Given the description of an element on the screen output the (x, y) to click on. 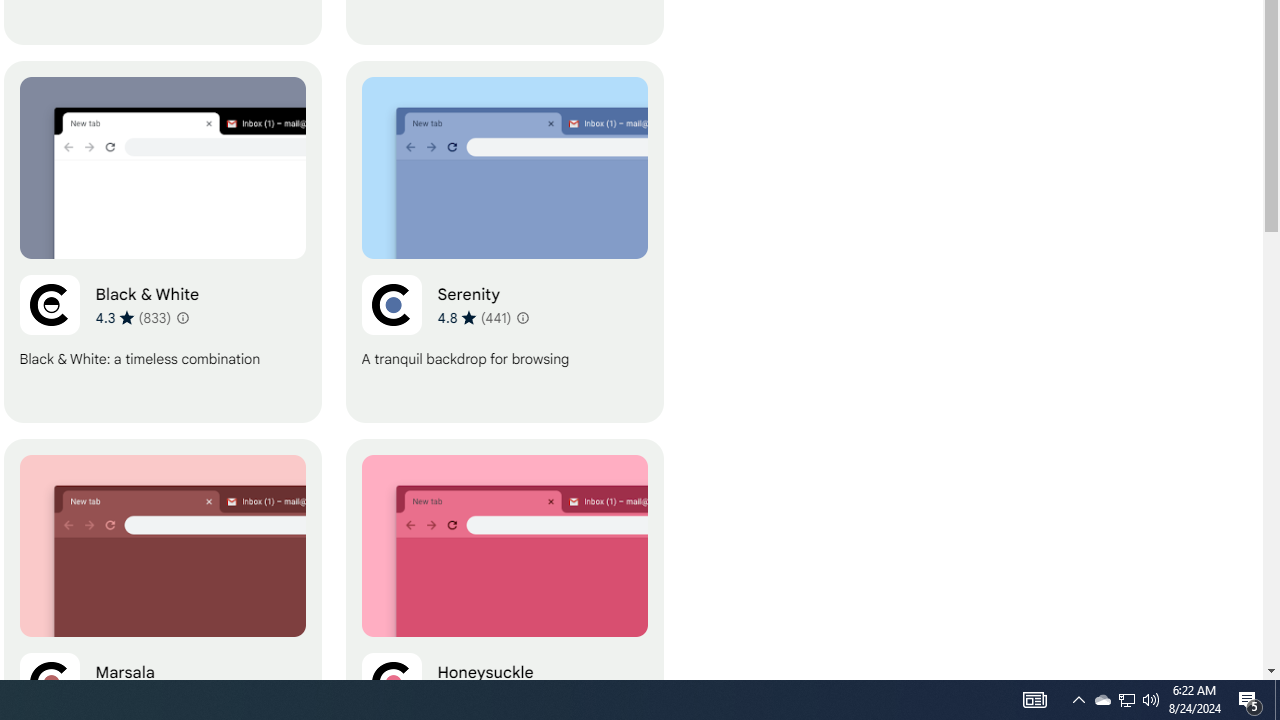
Average rating 4.8 out of 5 stars. 441 ratings. (474, 317)
Learn more about results and reviews "Black & White" (182, 317)
Learn more about results and reviews "Serenity" (522, 317)
Black & White (162, 242)
Average rating 4.3 out of 5 stars. 833 ratings. (132, 317)
Serenity (504, 242)
